Given the description of an element on the screen output the (x, y) to click on. 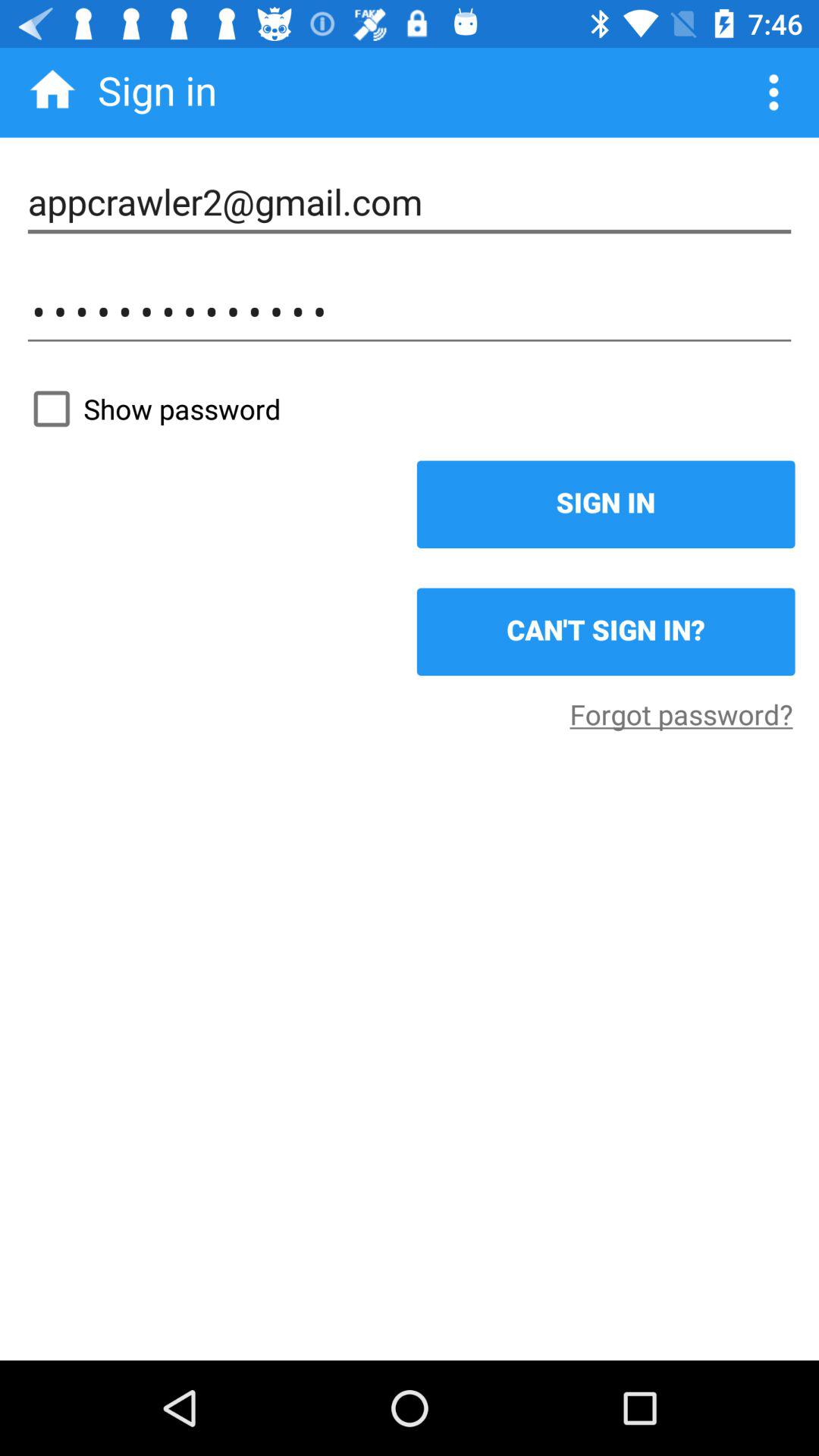
tap item below can t sign icon (680, 714)
